Given the description of an element on the screen output the (x, y) to click on. 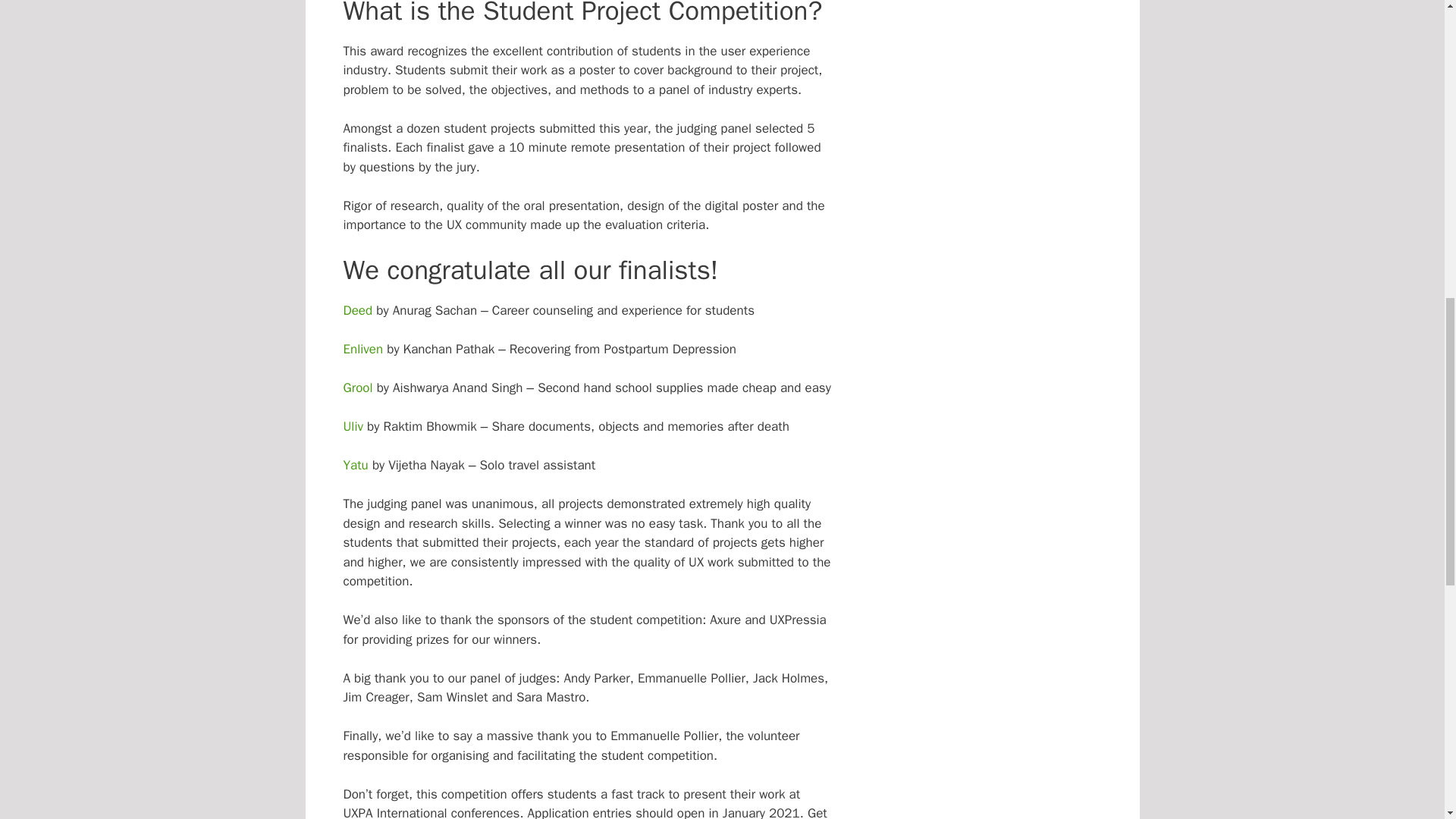
Scroll back to top (1406, 720)
